Given the description of an element on the screen output the (x, y) to click on. 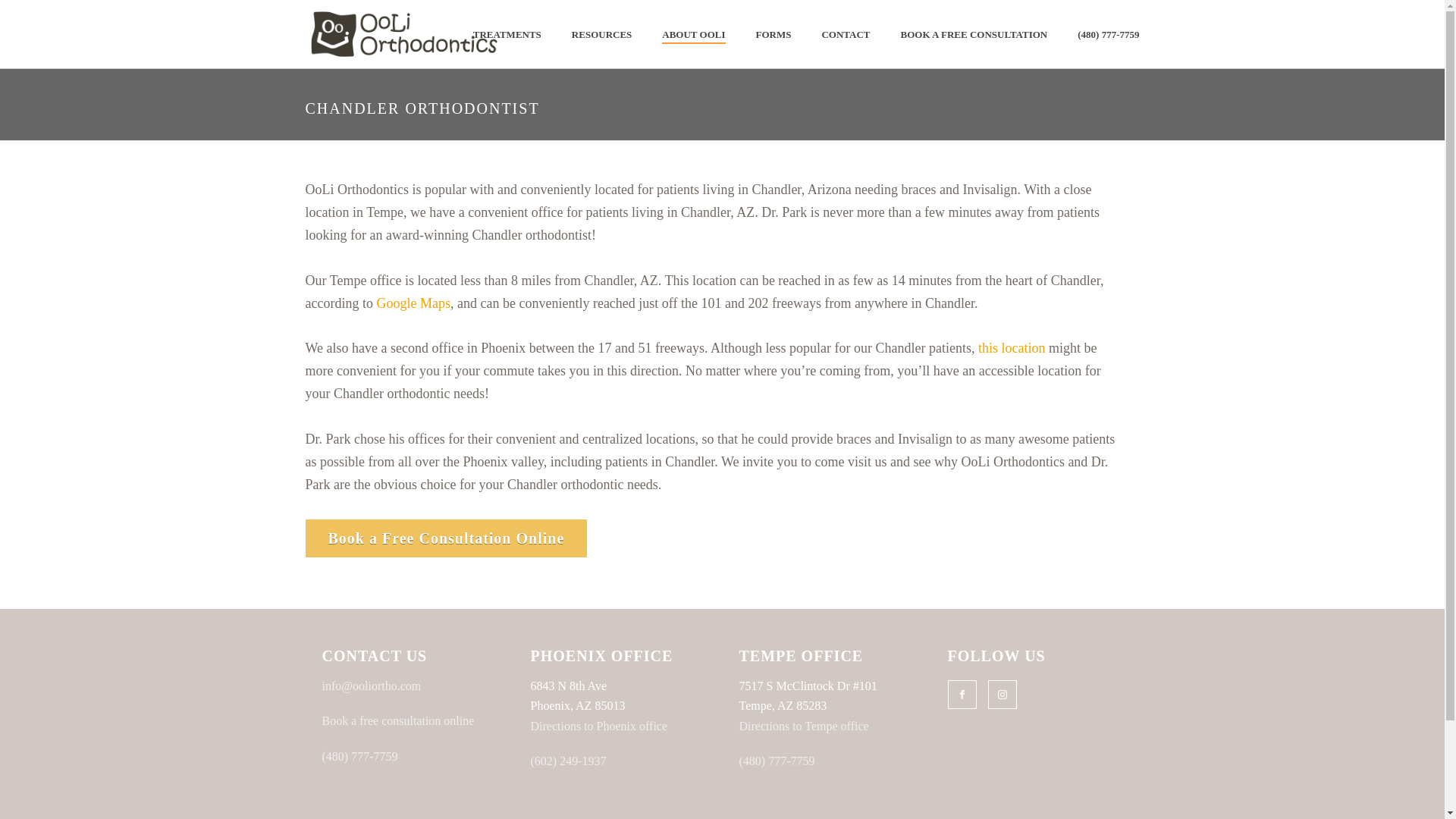
Follow Us instagram (1001, 694)
Braces in Phoenix (402, 33)
CONTACT (845, 34)
RESOURCES (601, 34)
CONTACT (845, 34)
Call via Hangouts (569, 760)
FORMS (773, 34)
ABOUT OOLI (692, 34)
BOOK A FREE CONSULTATION (973, 34)
Follow Us facebook (961, 694)
TREATMENTS (507, 34)
RESOURCES (601, 34)
FORMS (773, 34)
TREATMENTS (507, 34)
ABOUT OOLI (692, 34)
